Given the description of an element on the screen output the (x, y) to click on. 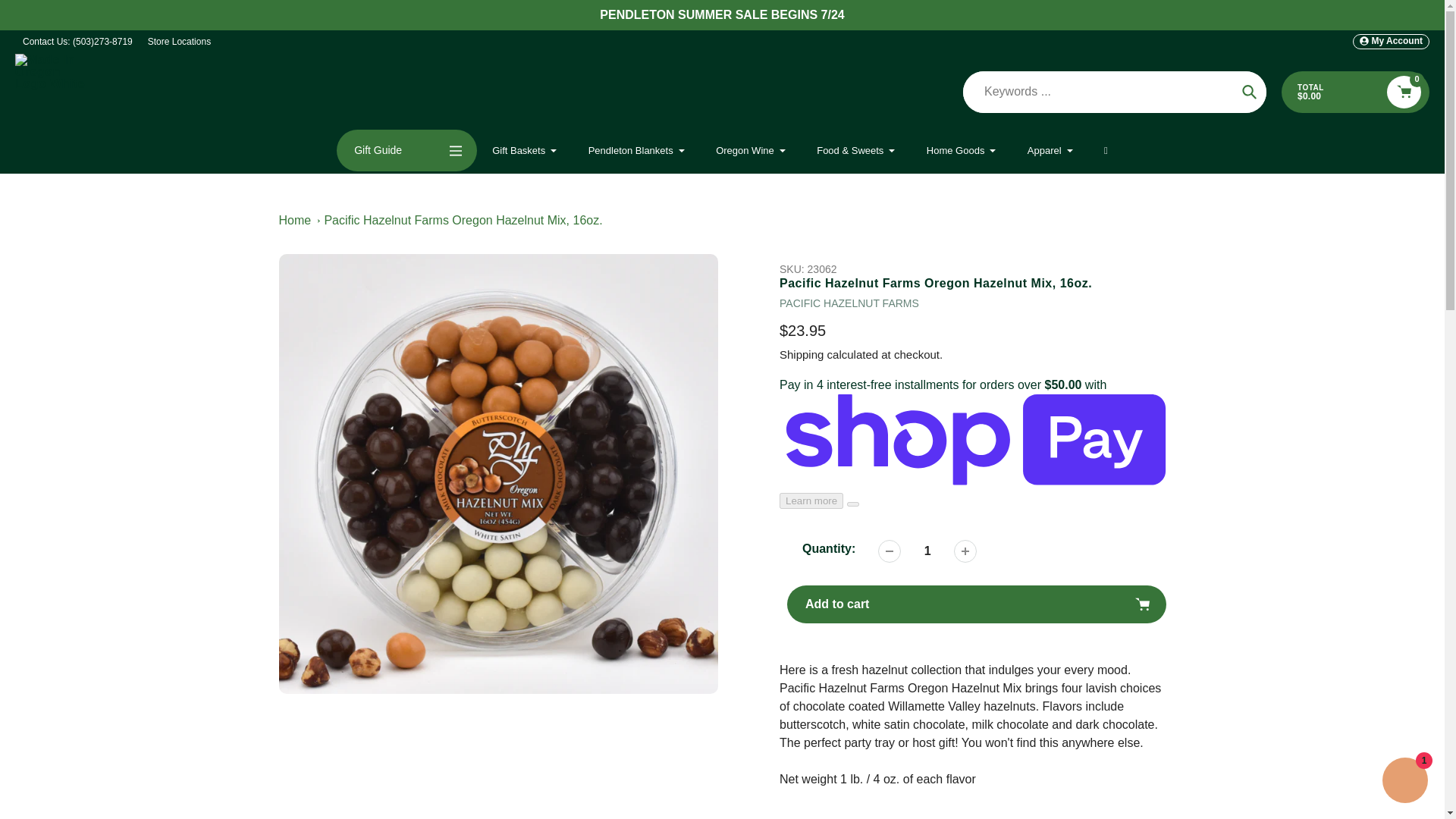
My Account (1390, 41)
Store Locations (178, 41)
Gift Guide (406, 150)
PACIFIC HAZELNUT FARMS (848, 303)
0 (1404, 92)
Shopify online store chat (1404, 781)
1 (927, 550)
